Given the description of an element on the screen output the (x, y) to click on. 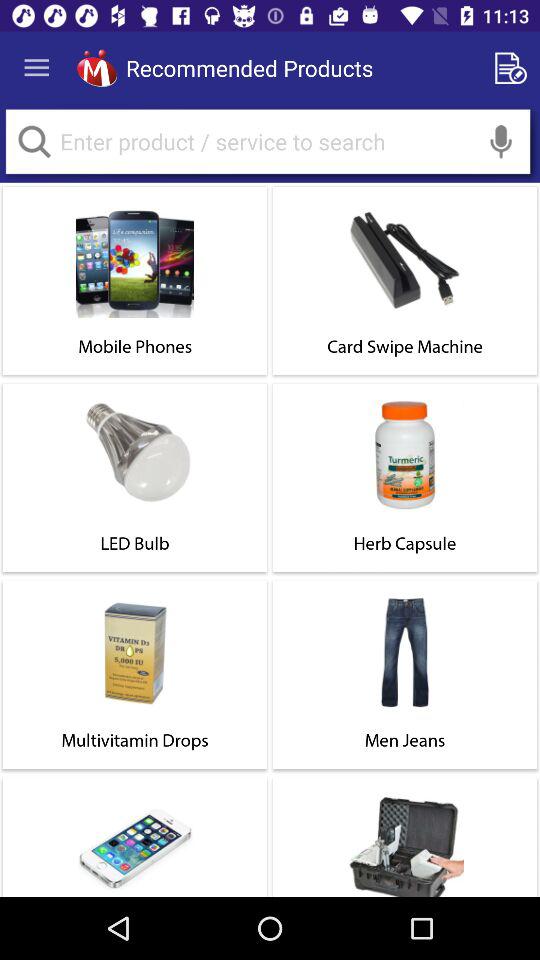
voice input (501, 141)
